Given the description of an element on the screen output the (x, y) to click on. 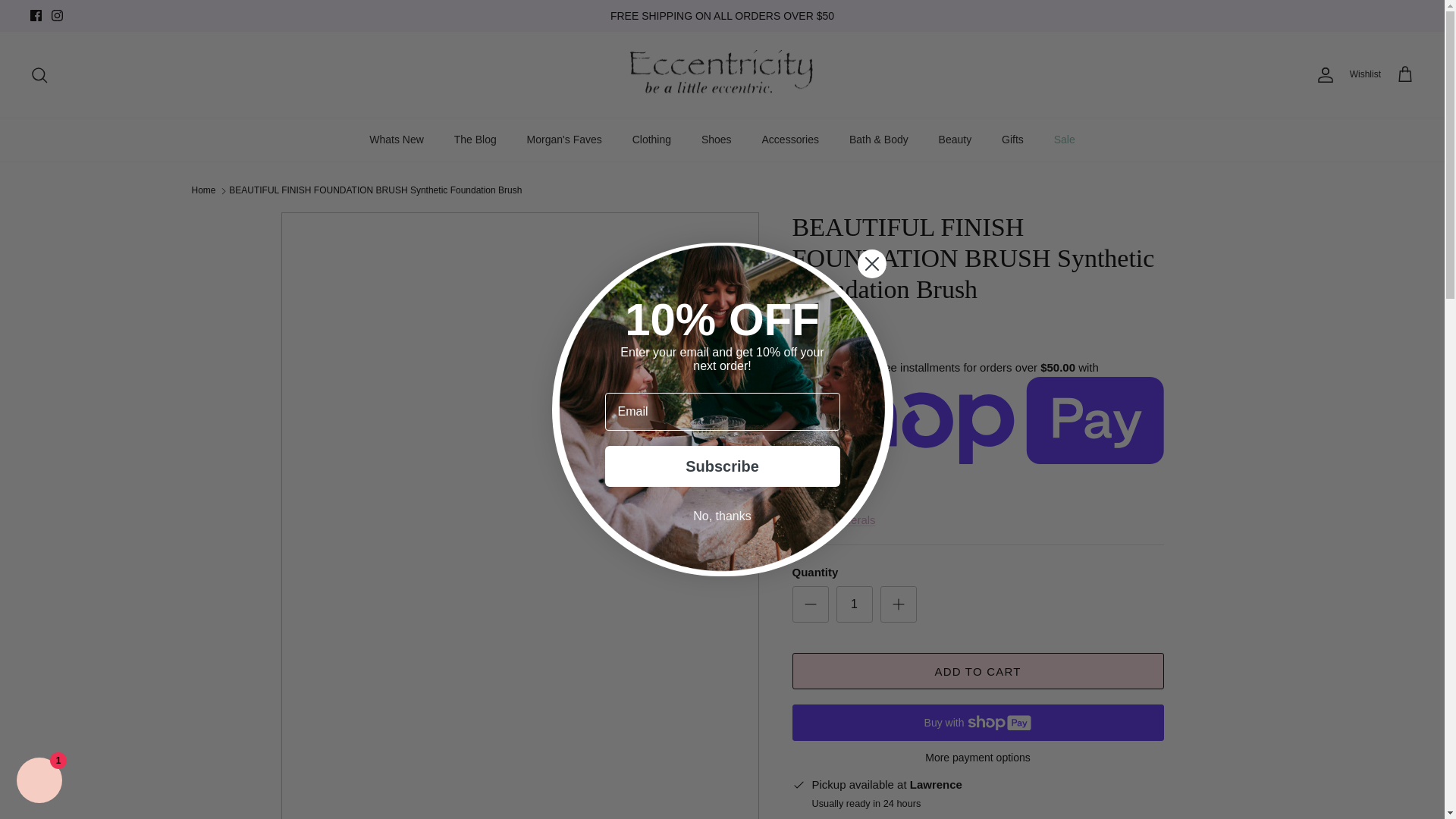
1 (853, 604)
Facebook (36, 15)
Morgan's Faves (564, 139)
Shopify online store chat (38, 781)
Whats New (396, 139)
Account (1322, 75)
Clothing (651, 139)
Plus (897, 604)
Instagram (56, 15)
Search (39, 75)
Wishlist (1372, 74)
Cart (1404, 75)
Instagram (56, 15)
Facebook (36, 15)
The Blog (476, 139)
